Given the description of an element on the screen output the (x, y) to click on. 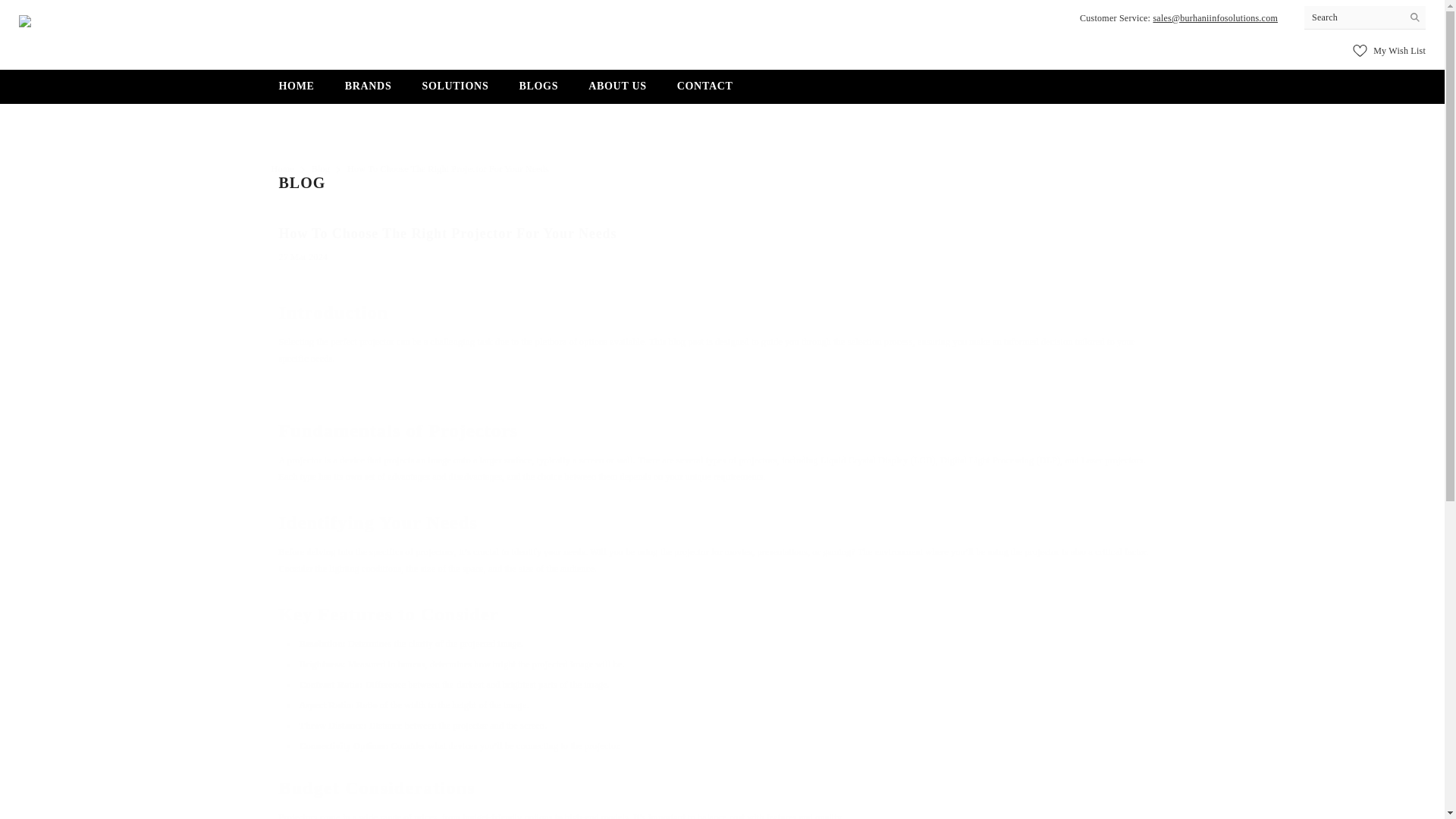
ABOUT US (617, 90)
SOLUTIONS (454, 90)
Home (282, 168)
My Wish List (1388, 50)
BRANDS (368, 92)
HOME (722, 158)
BLOGS (296, 93)
Blog (538, 90)
CONTACT (320, 168)
